Given the description of an element on the screen output the (x, y) to click on. 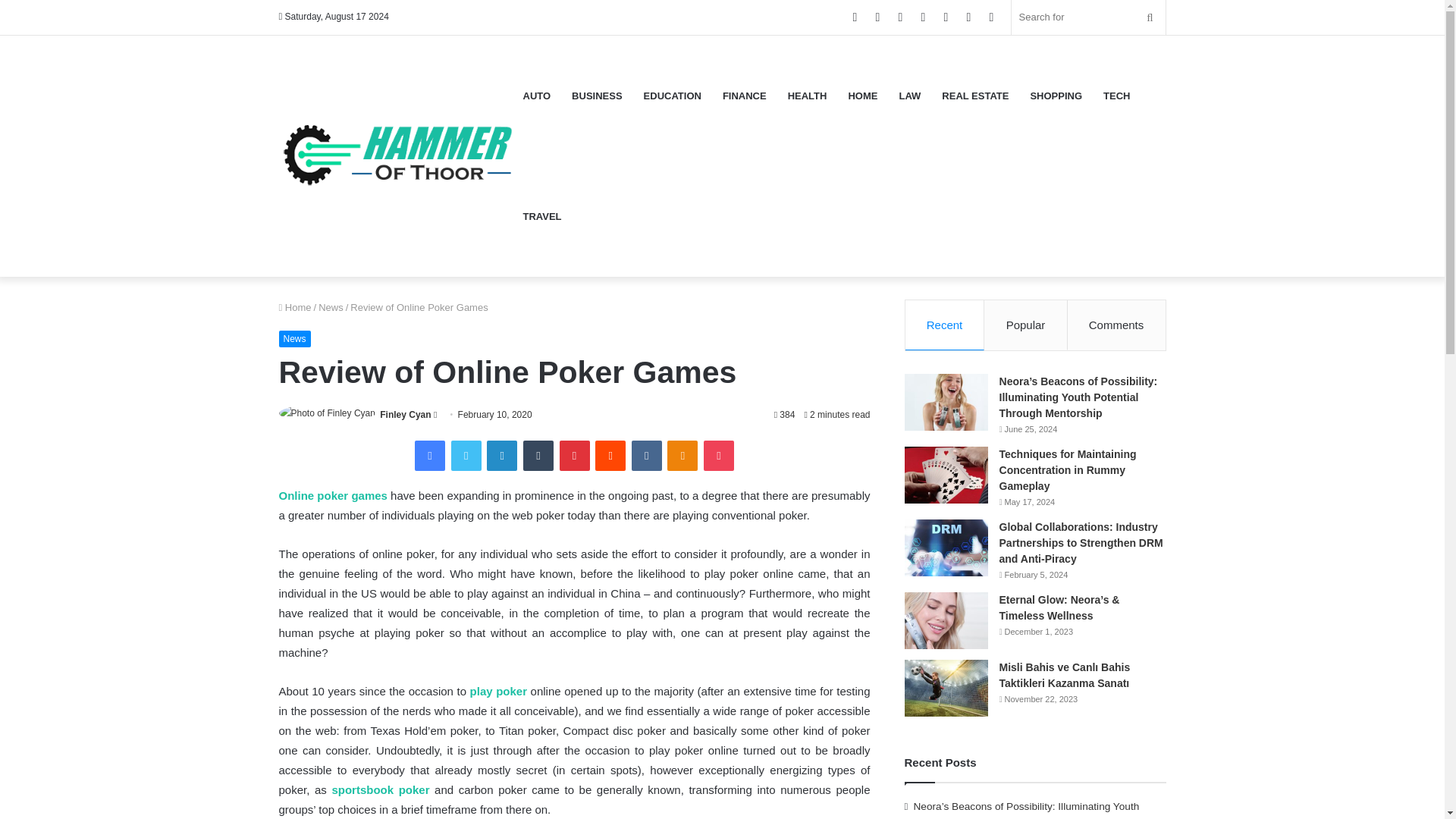
Odnoklassniki (681, 455)
Facebook (429, 455)
Pinterest (574, 455)
Facebook (429, 455)
Finley Cyan (405, 414)
News (330, 307)
Reddit (610, 455)
VKontakte (646, 455)
VKontakte (646, 455)
Pinterest (574, 455)
